Given the description of an element on the screen output the (x, y) to click on. 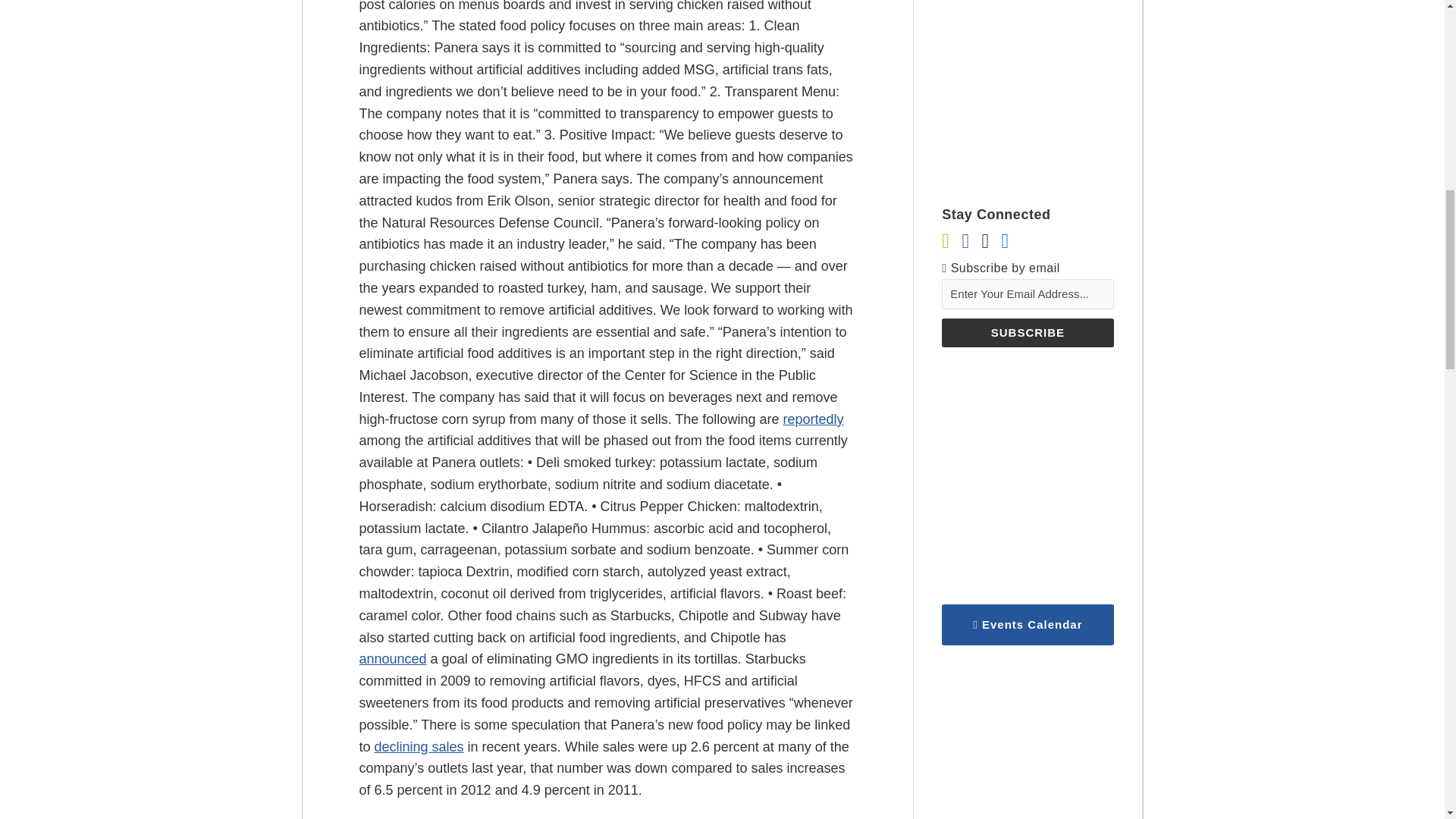
declining sales (419, 746)
Subscribe (1027, 332)
reportedly (813, 418)
announced (392, 658)
